Given the description of an element on the screen output the (x, y) to click on. 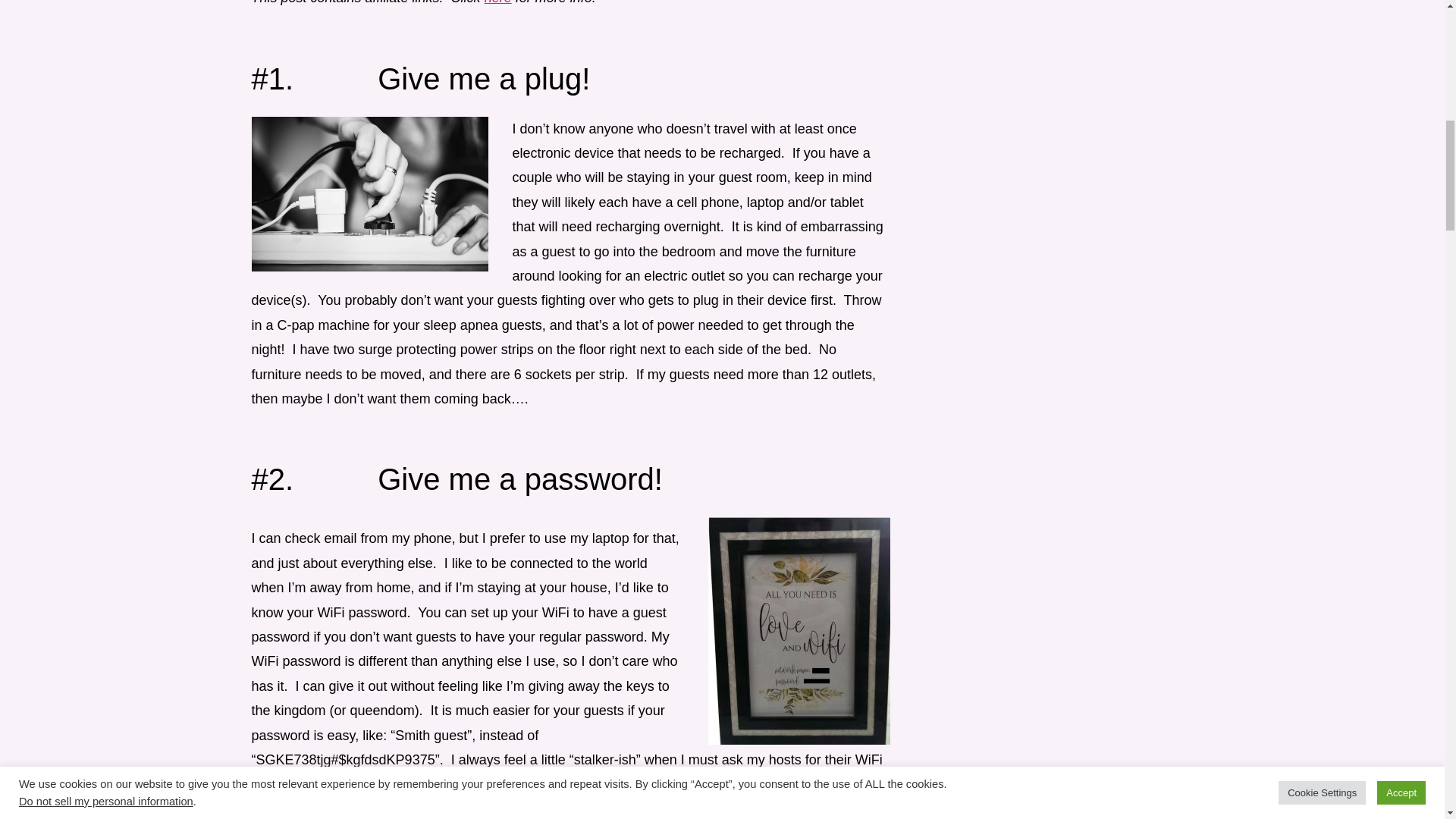
here (498, 2)
